Given the description of an element on the screen output the (x, y) to click on. 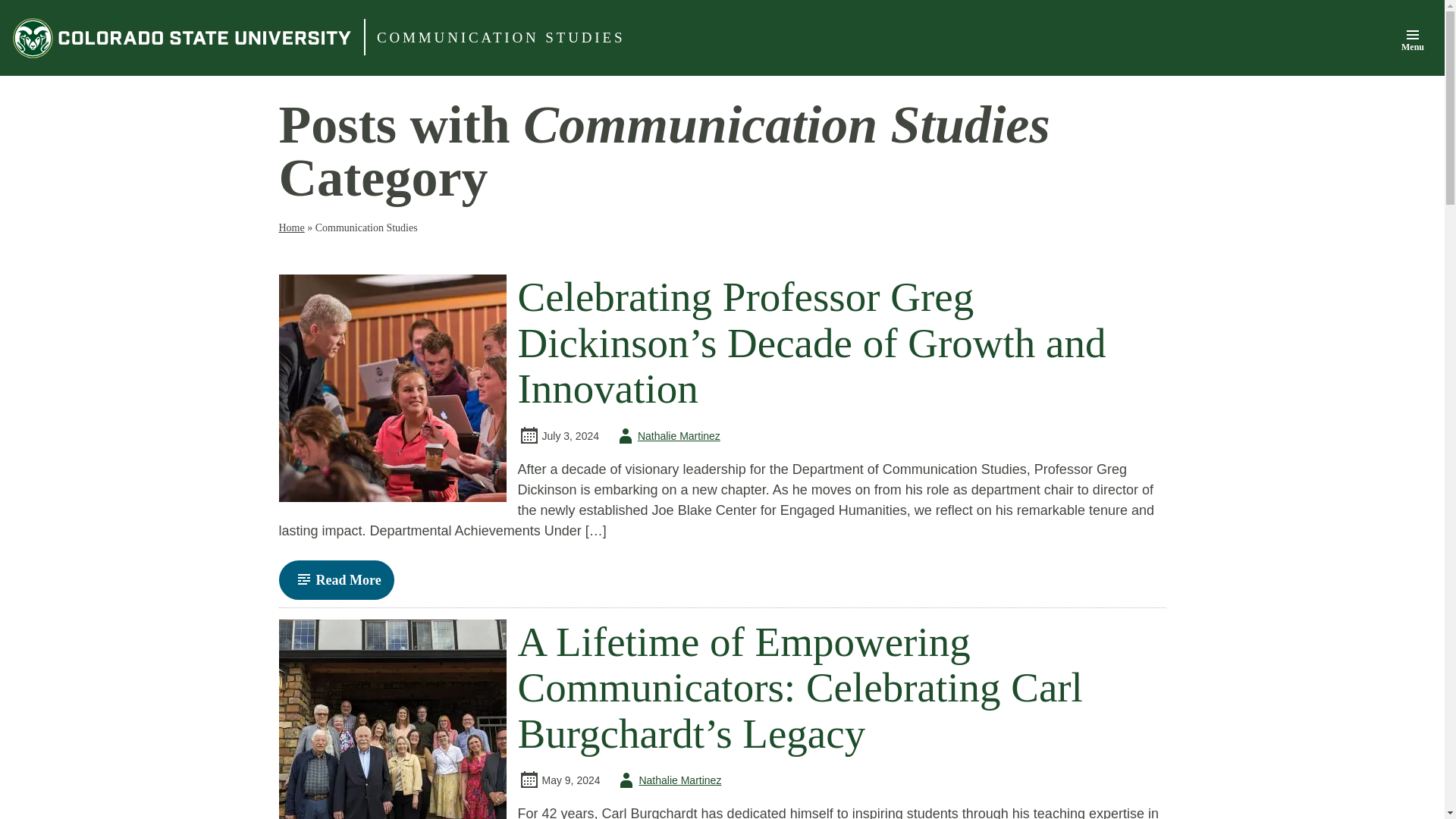
Menu (1411, 38)
COMMUNICATION STUDIES (500, 38)
